Given the description of an element on the screen output the (x, y) to click on. 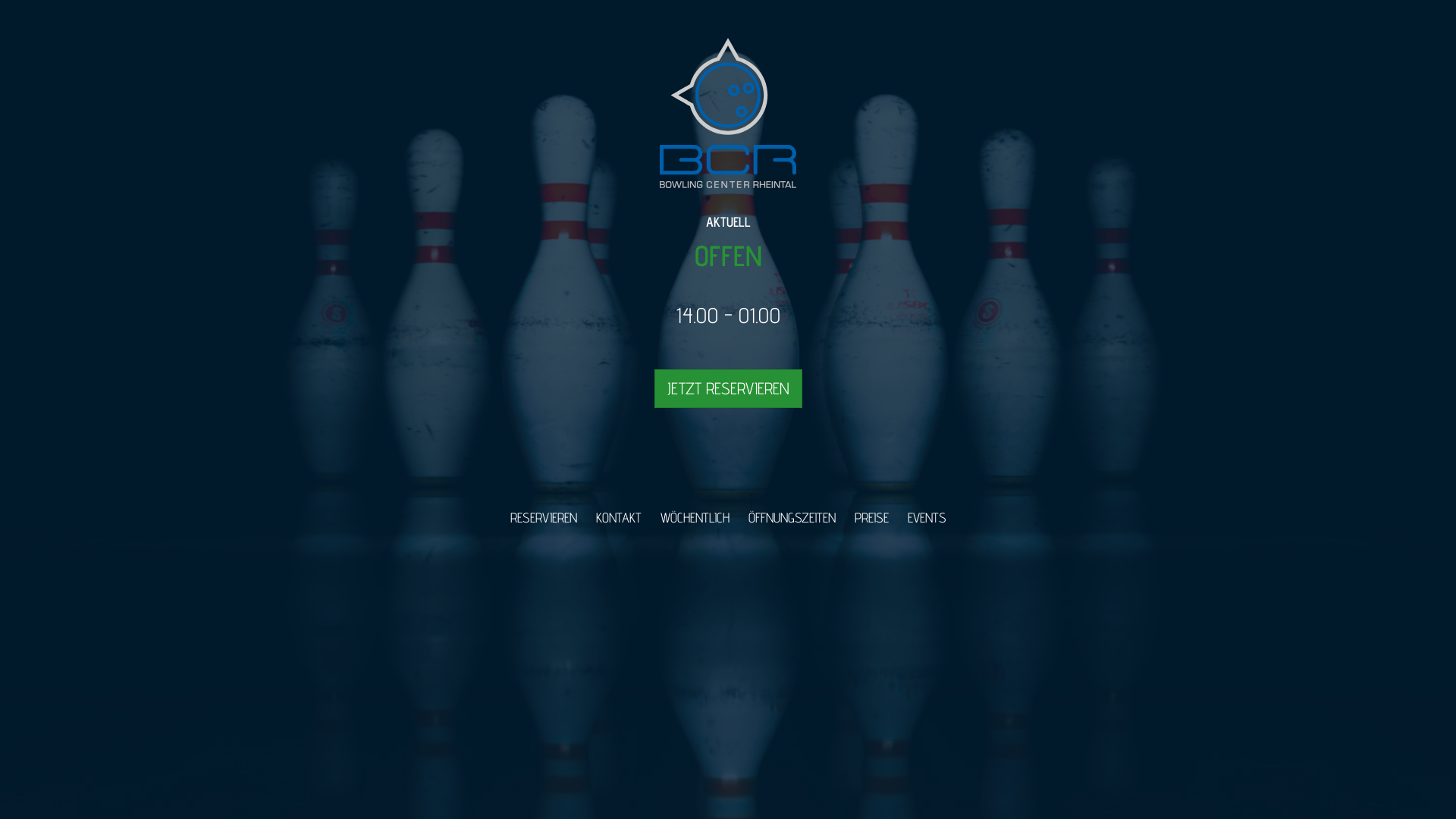
PREISE Element type: text (870, 517)
KONTAKT Element type: text (618, 517)
RESERVIEREN Element type: text (542, 517)
JETZT RESERVIEREN Element type: text (727, 388)
EVENTS Element type: text (926, 517)
